Given the description of an element on the screen output the (x, y) to click on. 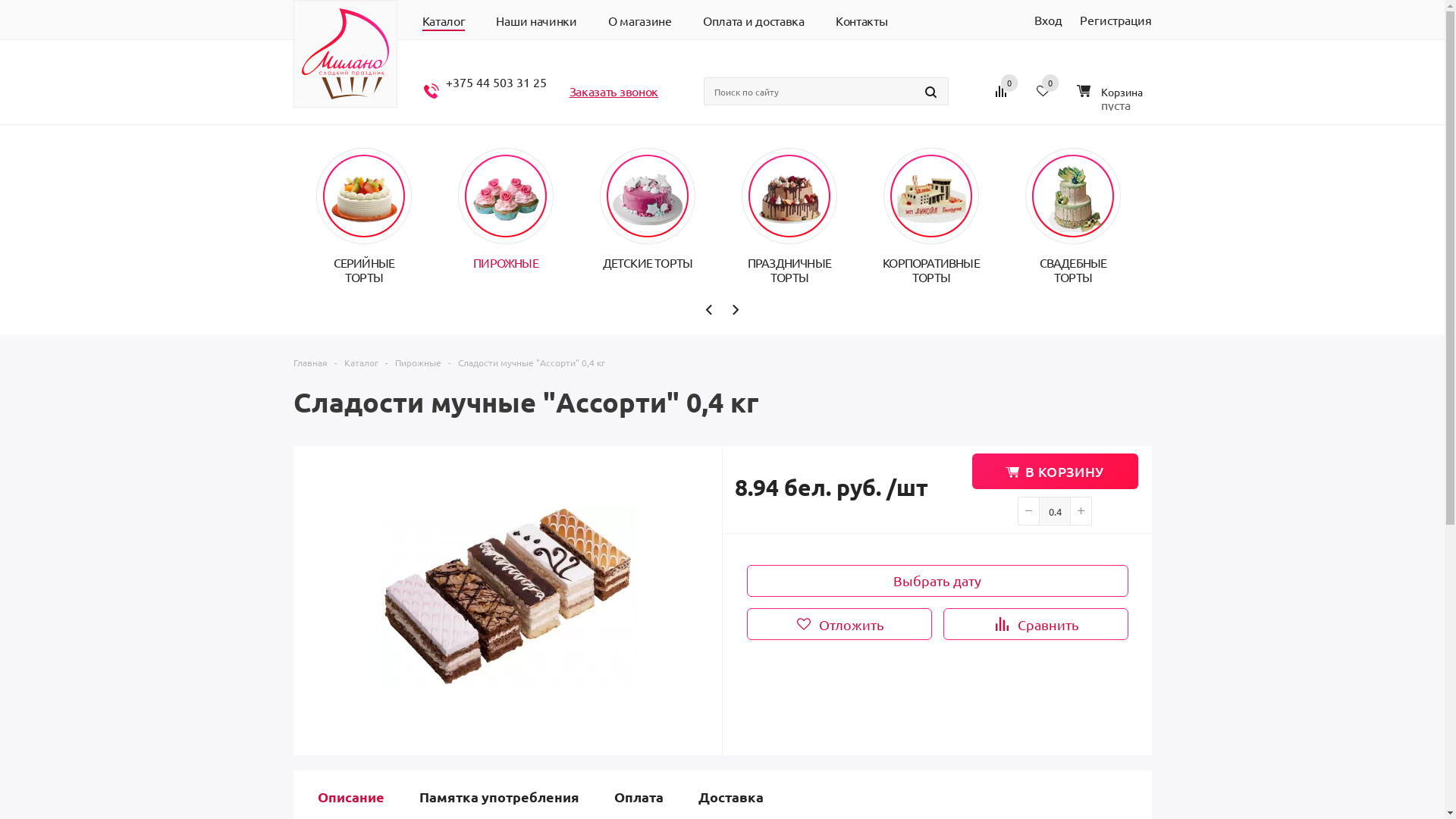
Previous Element type: text (709, 309)
Next Element type: text (735, 309)
0 Element type: text (1009, 82)
